Given the description of an element on the screen output the (x, y) to click on. 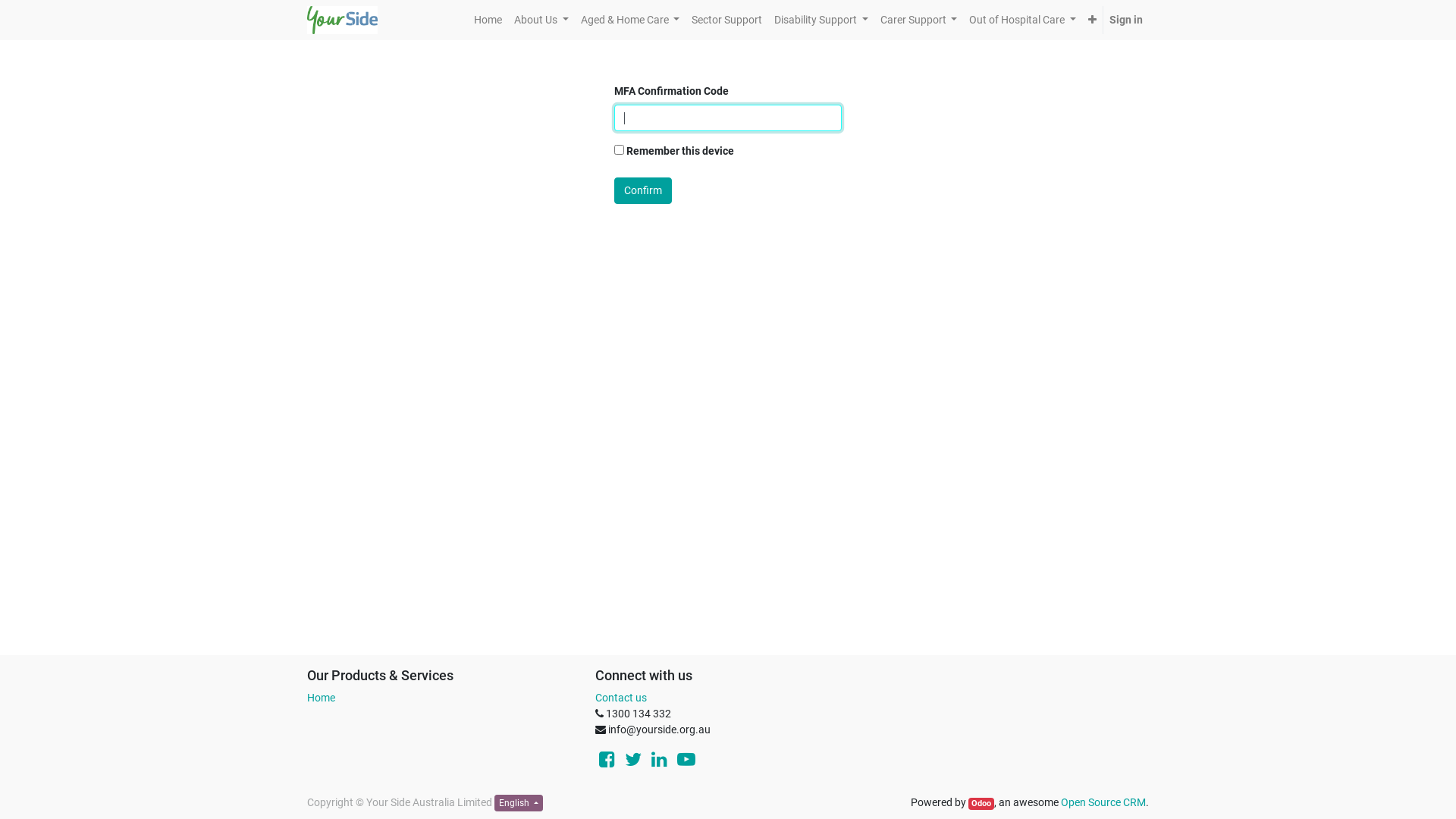
Aged & Home Care Element type: text (630, 20)
Confirm Element type: text (642, 190)
English Element type: text (518, 802)
Out of Hospital Care Element type: text (1022, 20)
About Us Element type: text (541, 20)
Sign in Element type: text (1125, 20)
Disability Support Element type: text (821, 20)
Your Side Australia Limited Element type: hover (342, 18)
Sector Support Element type: text (726, 20)
Home Element type: text (487, 20)
Carer Support Element type: text (918, 20)
Open Source CRM Element type: text (1102, 802)
Contact us Element type: text (620, 697)
Odoo Element type: text (981, 803)
Home Element type: text (321, 697)
